Given the description of an element on the screen output the (x, y) to click on. 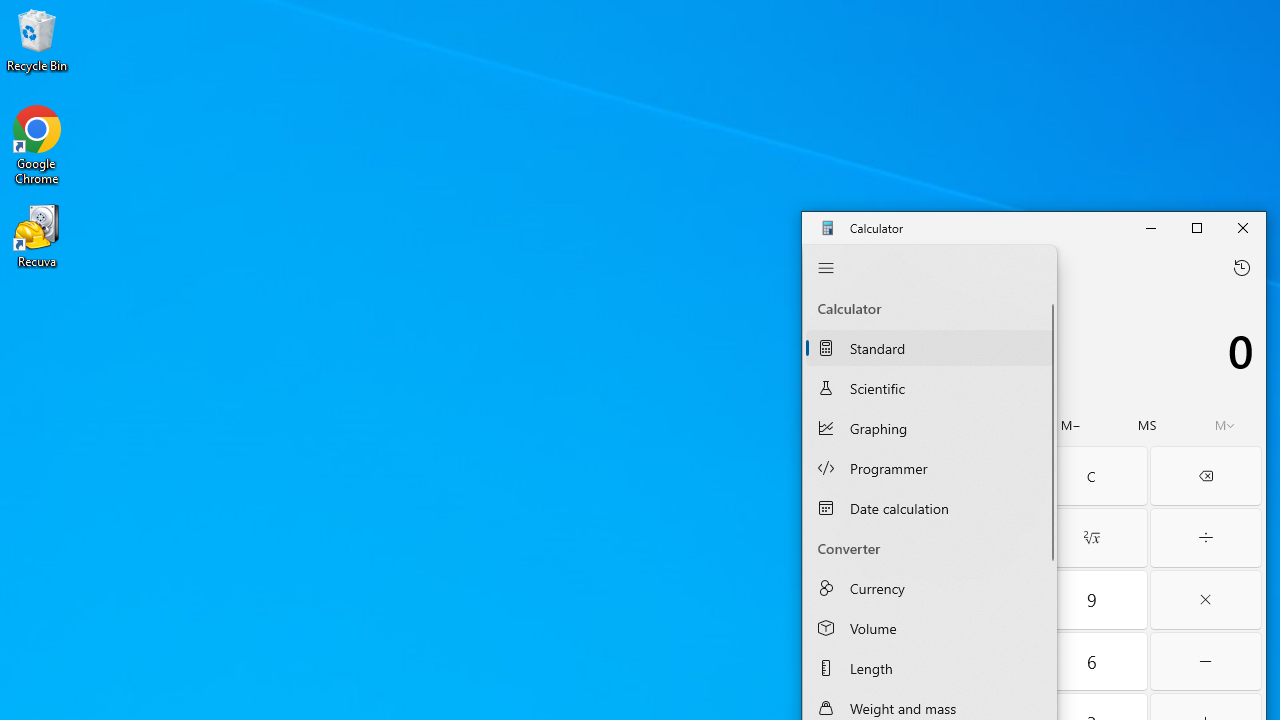
Nine (1091, 600)
Minimize Calculator (1150, 227)
Open history flyout (1242, 267)
Five (977, 661)
Backspace (1205, 475)
Memory subtract (1071, 425)
Seven (862, 600)
